Given the description of an element on the screen output the (x, y) to click on. 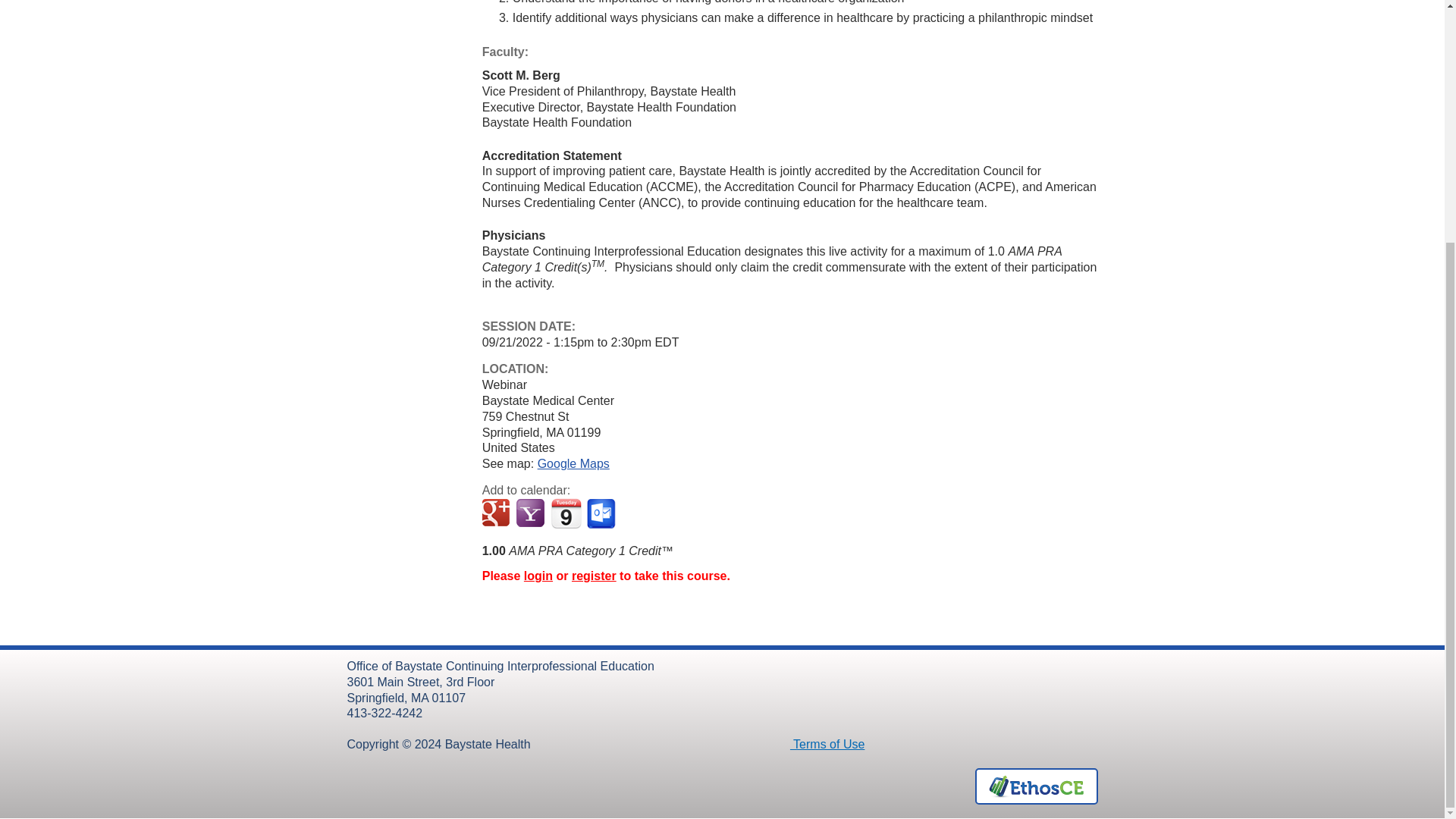
Google calendar (497, 513)
Yahoo calendar (531, 513)
iCal (565, 512)
Outlook (601, 513)
